Given the description of an element on the screen output the (x, y) to click on. 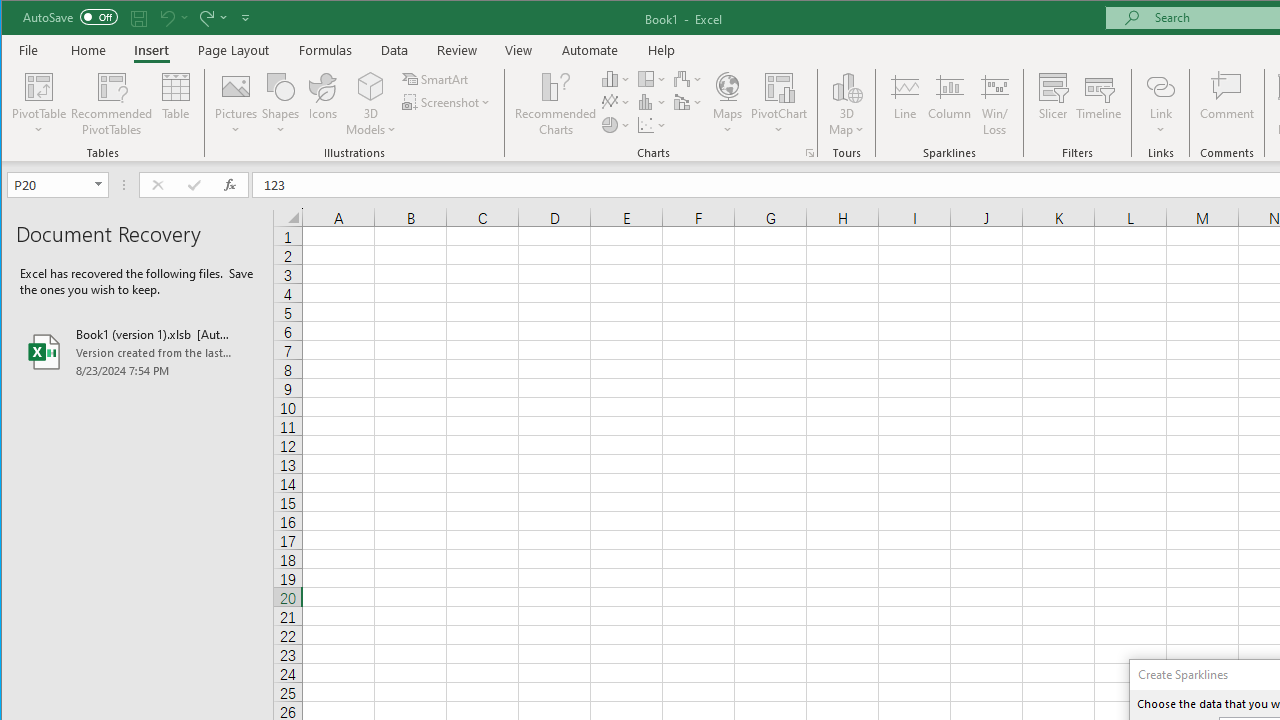
Insert Column or Bar Chart (616, 78)
PivotChart (779, 104)
Column (949, 104)
Link (1160, 86)
Line (904, 104)
Insert Pie or Doughnut Chart (616, 124)
Link (1160, 104)
